Given the description of an element on the screen output the (x, y) to click on. 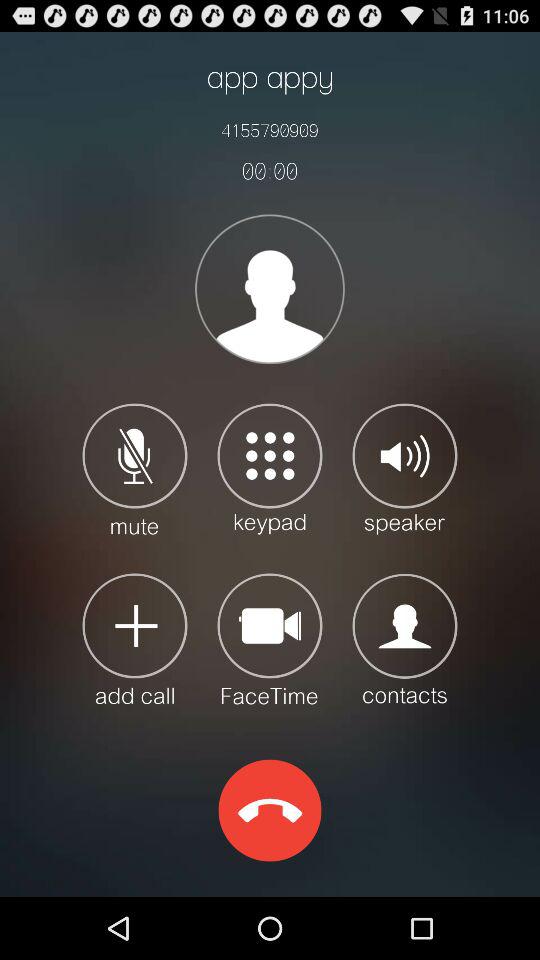
mute (134, 468)
